Given the description of an element on the screen output the (x, y) to click on. 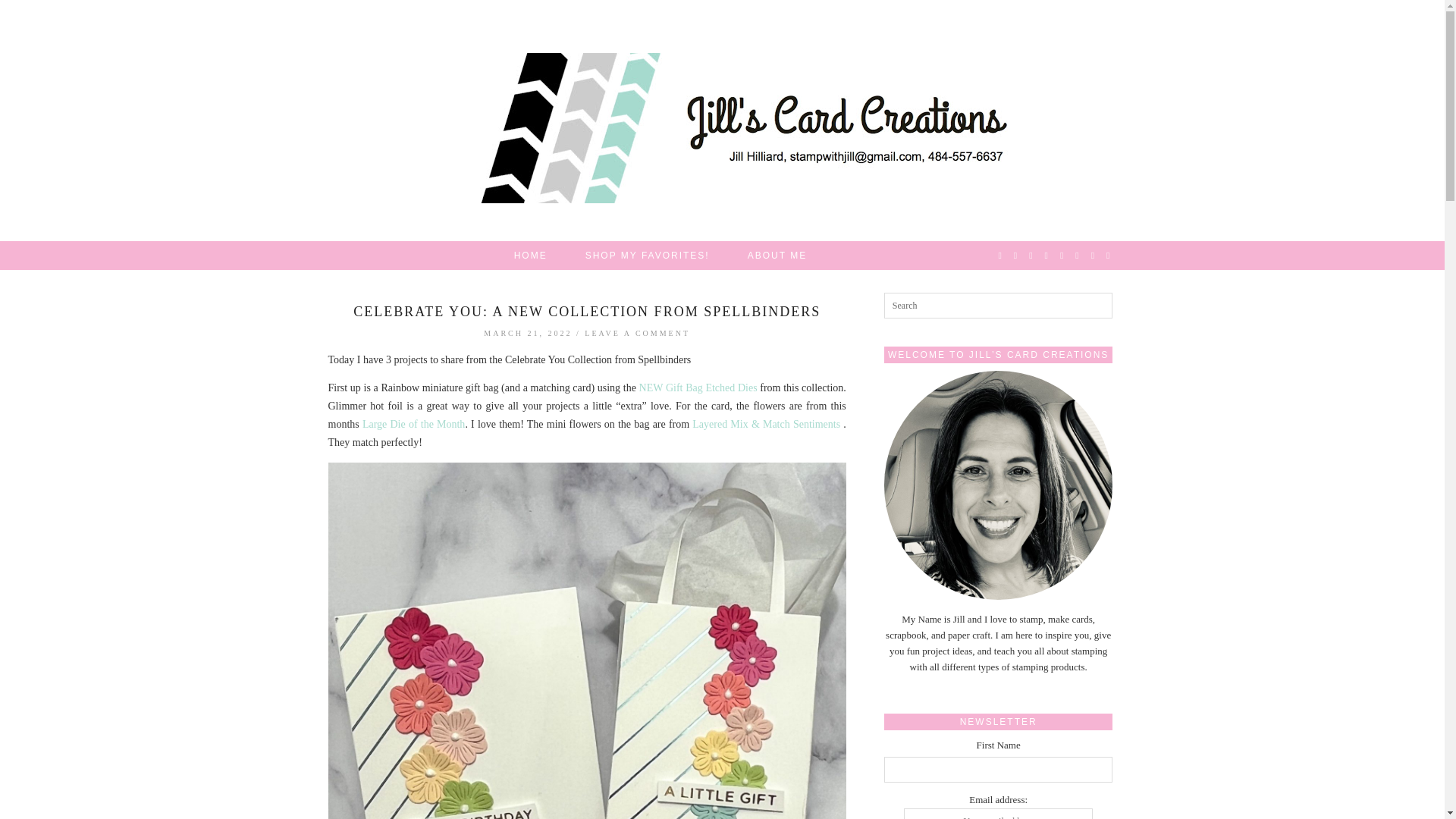
HOME (530, 255)
LEAVE A COMMENT (637, 333)
Large Die of the Month (413, 423)
Jill's Card Creations (722, 128)
SHOP MY FAVORITES! (647, 255)
ABOUT ME (777, 255)
NEW Gift Bag Etched Dies (698, 387)
